Given the description of an element on the screen output the (x, y) to click on. 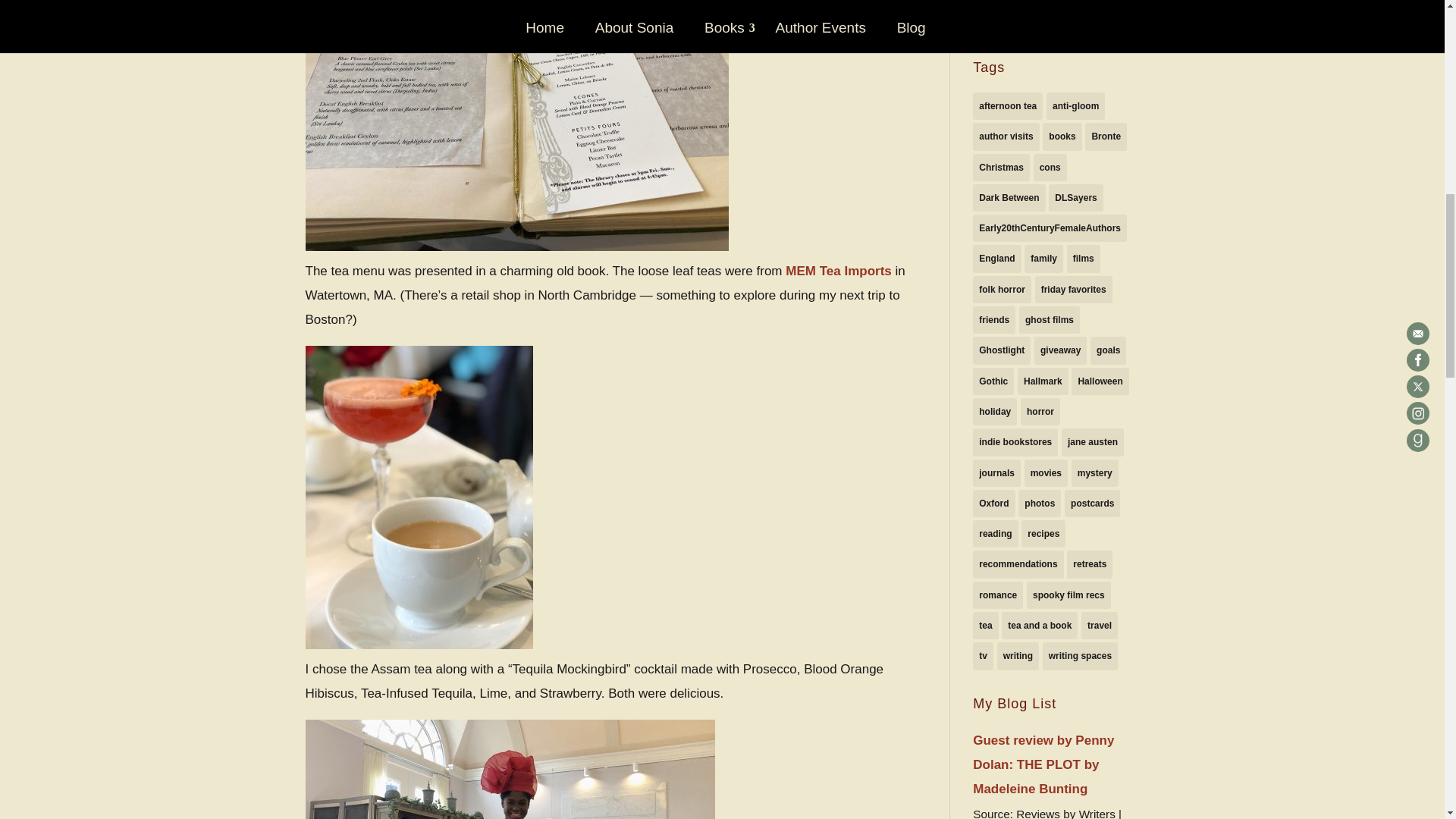
author visits (1005, 135)
books (1061, 135)
anti-gloom (1075, 105)
cons (1050, 166)
Early20thCenturyFemaleAuthors (1049, 227)
Bronte (1105, 135)
England (996, 257)
afternoon tea (1007, 105)
MEM Tea Imports (838, 270)
Christmas (1000, 166)
Dark Between (1008, 197)
DLSayers (1075, 197)
